Given the description of an element on the screen output the (x, y) to click on. 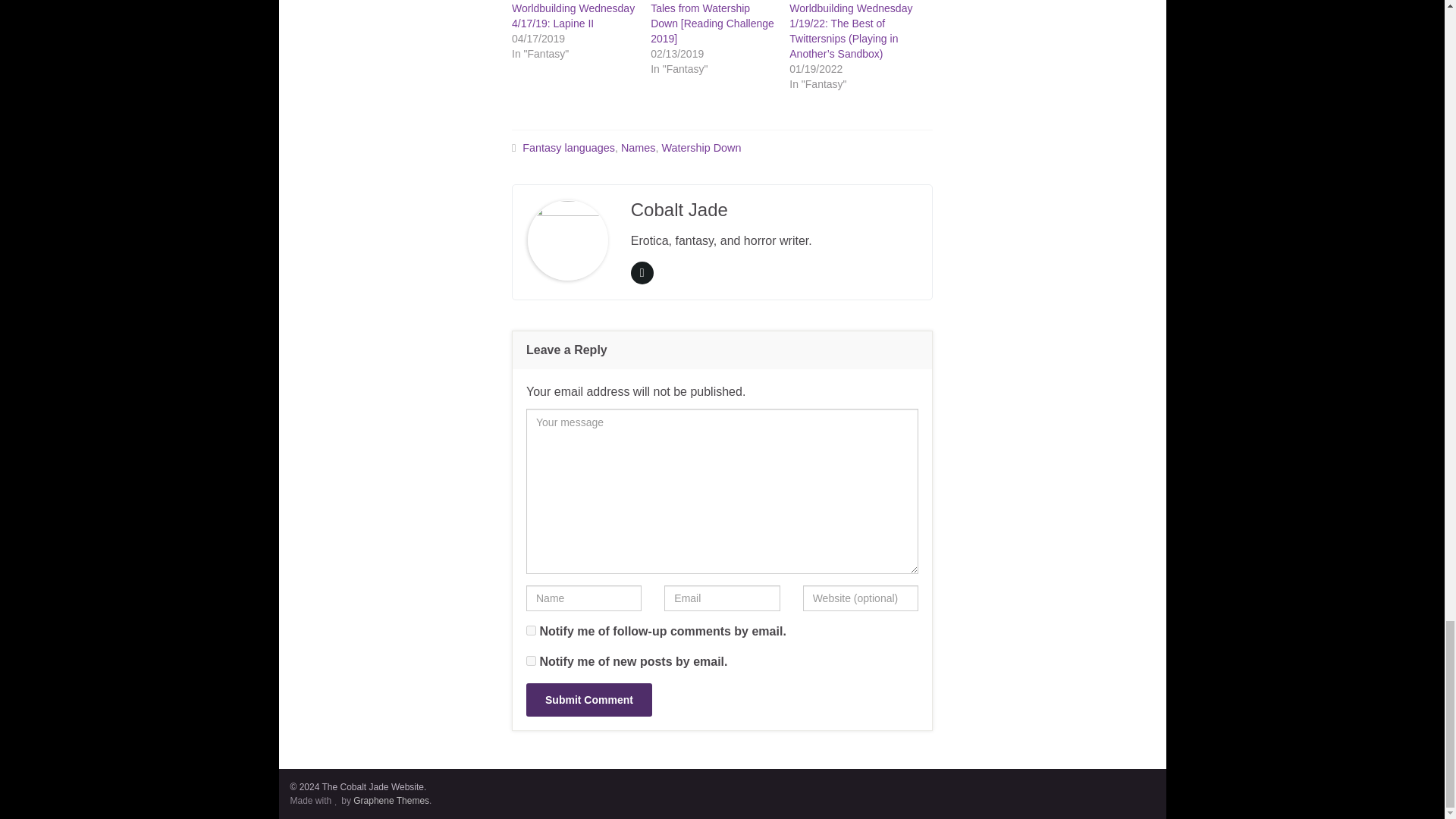
Submit Comment (588, 699)
Names (638, 147)
Watership Down (701, 147)
Fantasy languages (568, 147)
subscribe (530, 630)
Submit Comment (588, 699)
subscribe (530, 660)
